Given the description of an element on the screen output the (x, y) to click on. 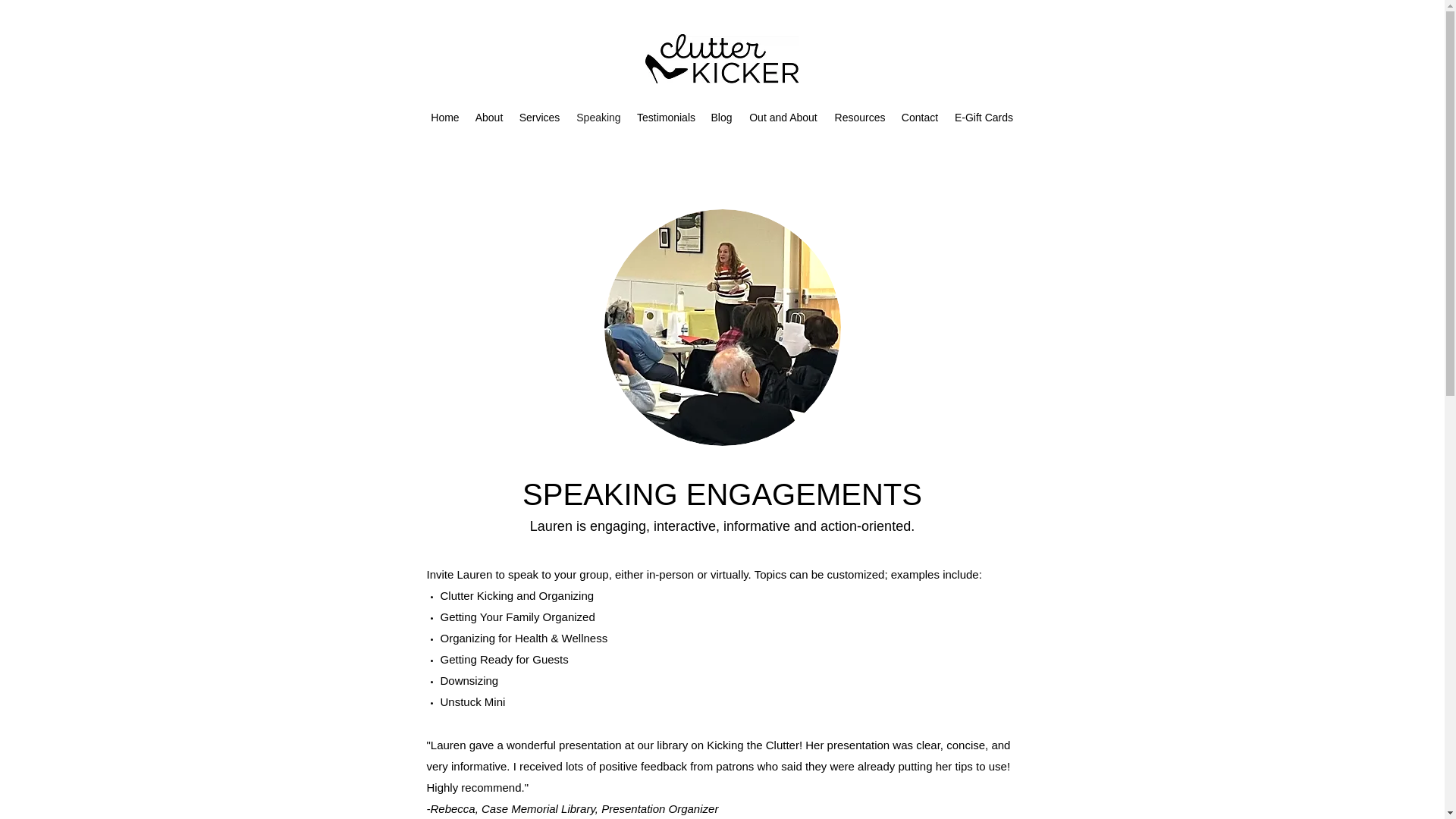
Resources (860, 117)
Blog (721, 117)
E-Gift Cards (984, 117)
Speaking (597, 117)
Home (445, 117)
Services (539, 117)
About (489, 117)
Testimonials (665, 117)
Contact (919, 117)
Out and About (783, 117)
